Given the description of an element on the screen output the (x, y) to click on. 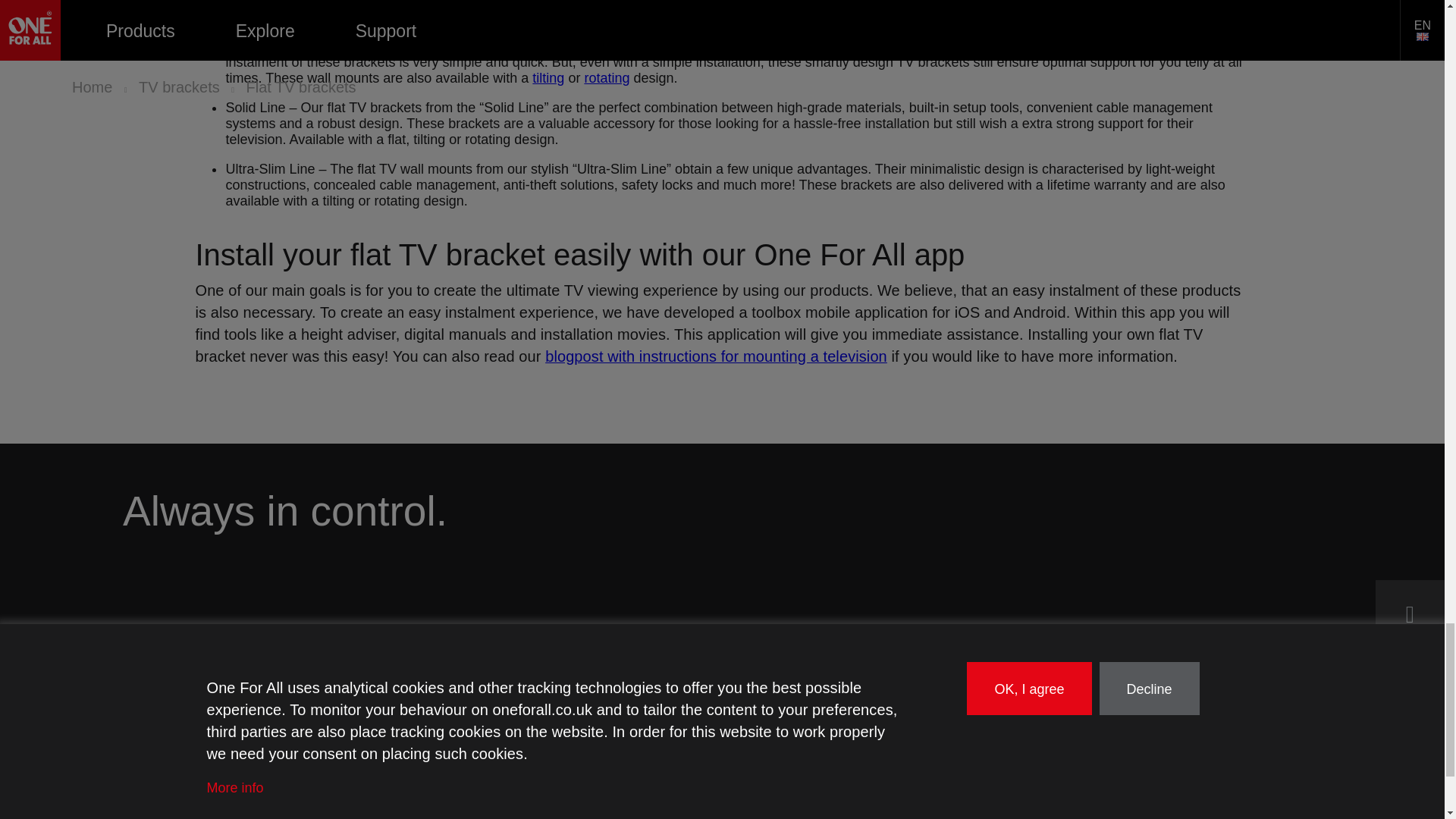
Wireless AV Senders (193, 799)
Tv brackets (163, 728)
Find the right TV bracket (441, 728)
Browse all One For All products. (164, 639)
Find the right aerial (423, 704)
Find the right product (378, 639)
Signal distribution (183, 776)
Universal Remotes (184, 679)
See our TV aerials (157, 704)
Find the right remote (429, 679)
